Given the description of an element on the screen output the (x, y) to click on. 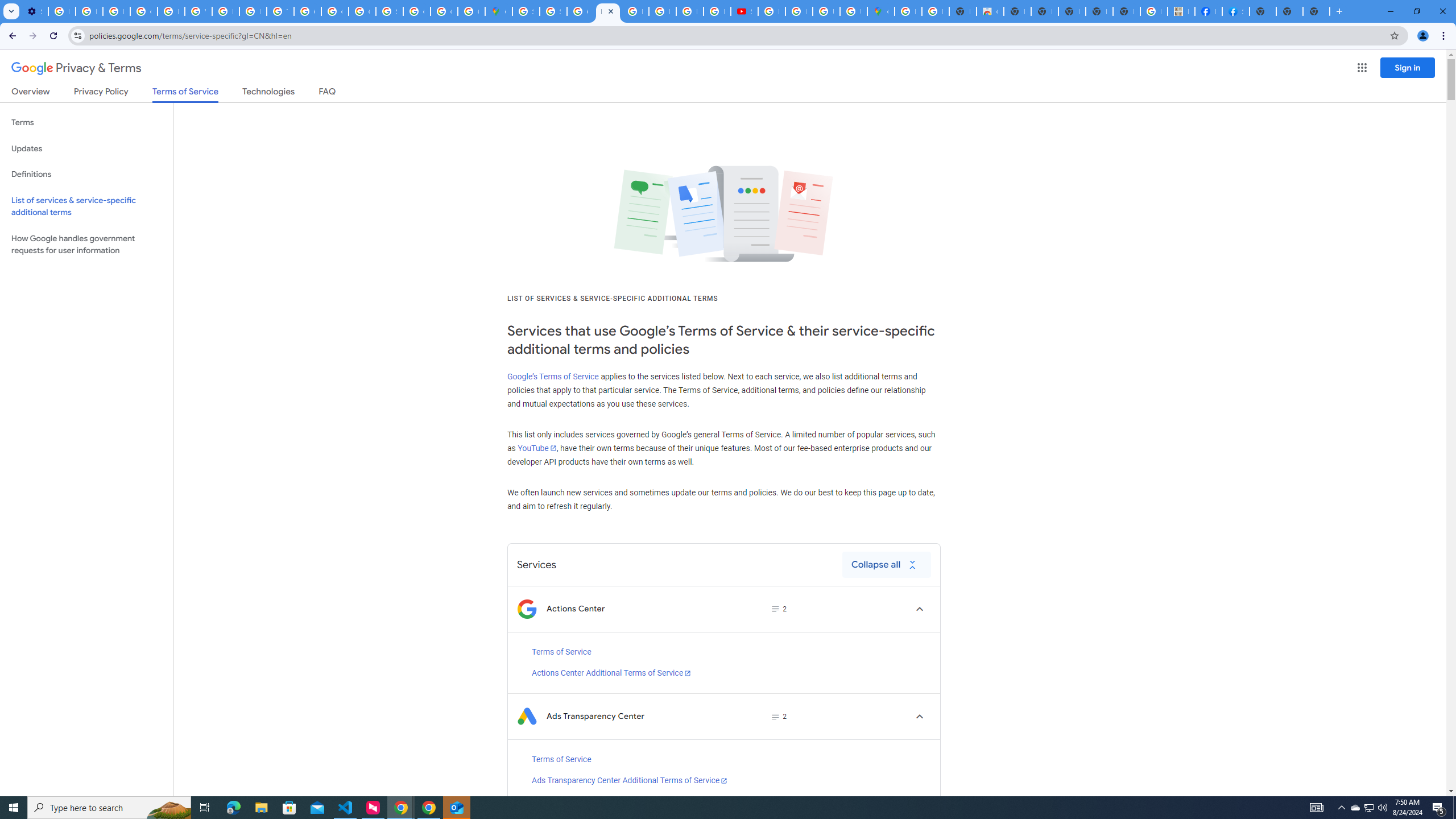
Learn how to find your photos - Google Photos Help (88, 11)
Blogger Policies and Guidelines - Transparency Center (634, 11)
New Tab (1316, 11)
https://scholar.google.com/ (225, 11)
Sign in - Google Accounts (553, 11)
YouTube (197, 11)
